Given the description of an element on the screen output the (x, y) to click on. 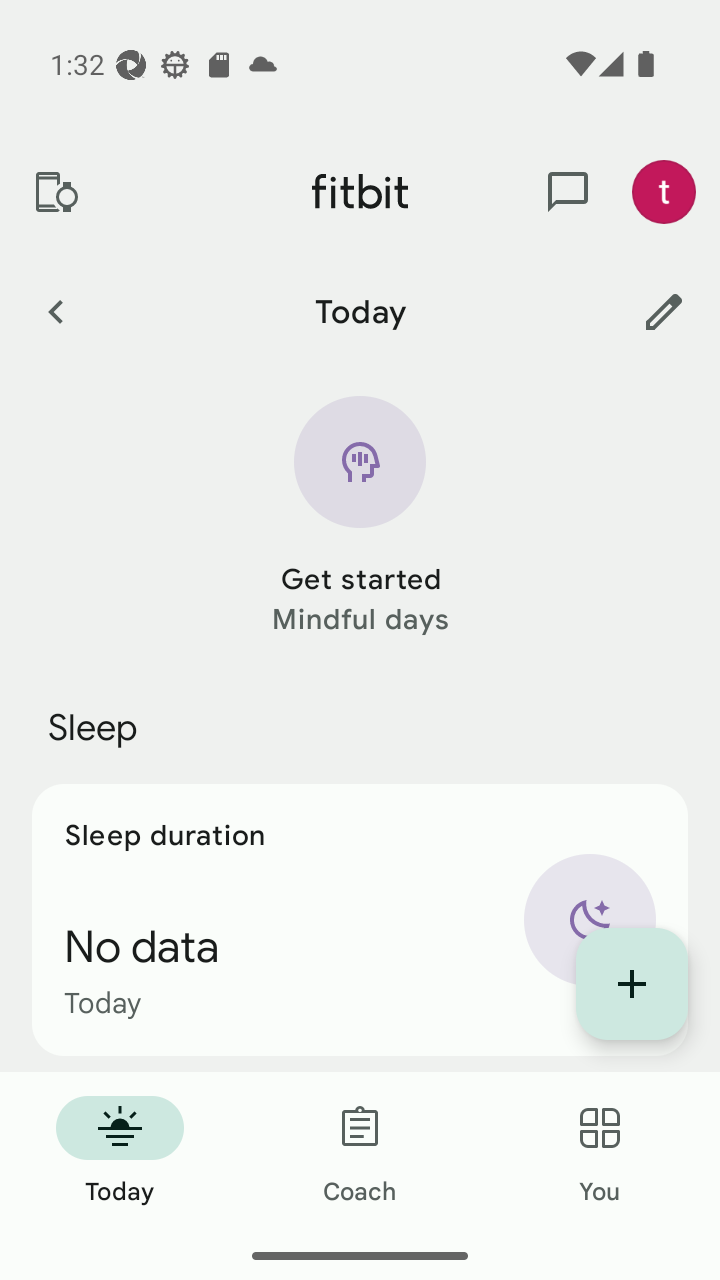
Devices and apps (55, 191)
messages and notifications (567, 191)
Previous Day (55, 311)
Customize (664, 311)
Mindfulness icon Get started Mindful days (360, 517)
Sleep duration No data Today Sleep static arc (359, 919)
Display list of quick log entries (632, 983)
Coach (359, 1151)
You (600, 1151)
